Given the description of an element on the screen output the (x, y) to click on. 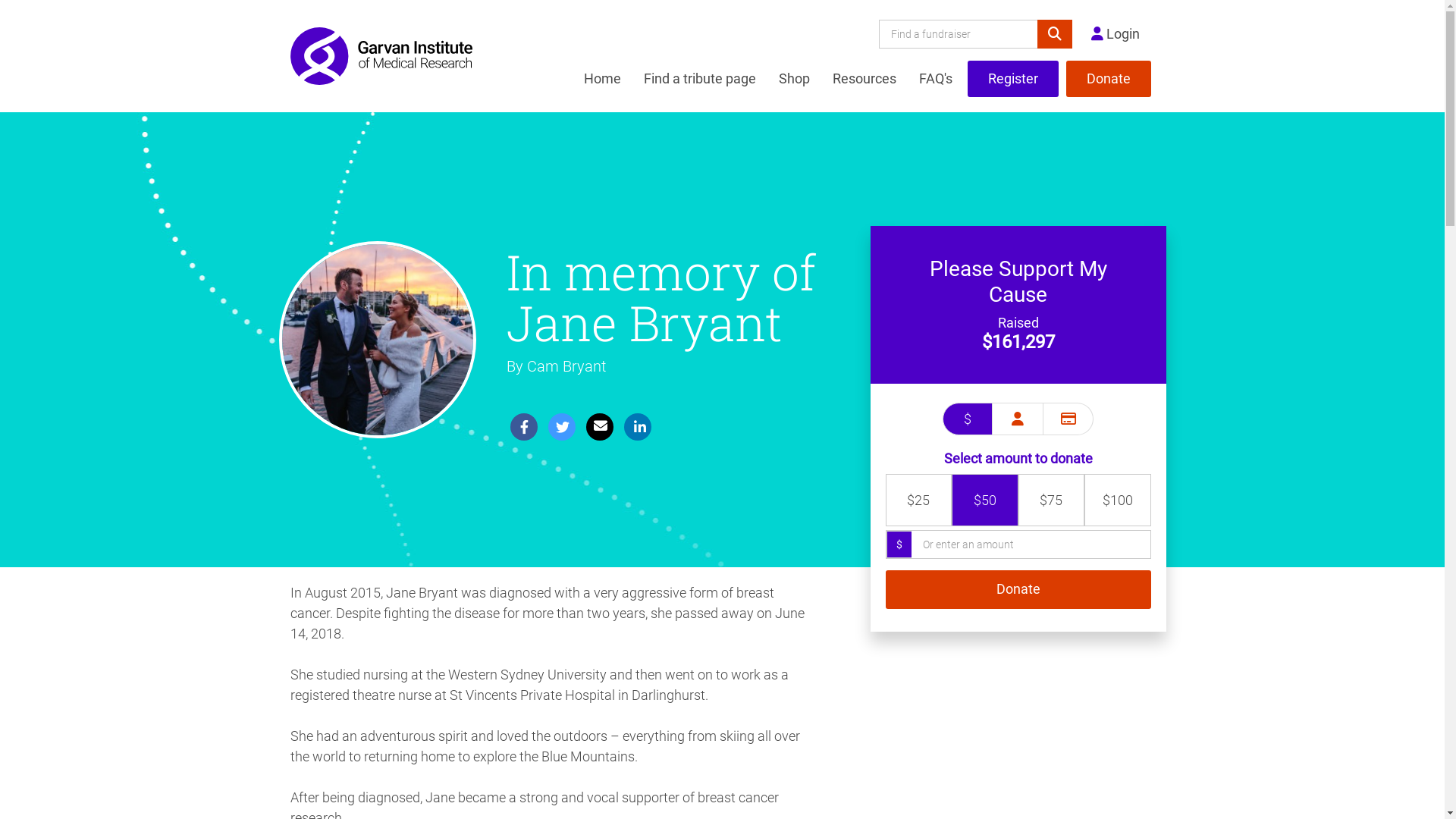
FAQ's Element type: text (934, 78)
Find a tribute page Element type: text (699, 78)
$75 Element type: text (1051, 499)
Donate Element type: text (1108, 78)
Register Element type: text (1012, 78)
Home Element type: text (601, 78)
Resources Element type: text (863, 78)
$ Element type: text (966, 418)
$50 Element type: text (984, 499)
$100 Element type: text (1117, 499)
Shop Element type: text (794, 78)
Donate Element type: text (1018, 589)
$25 Element type: text (917, 499)
Cam Bryant Element type: text (565, 366)
Login Element type: text (1114, 33)
